Given the description of an element on the screen output the (x, y) to click on. 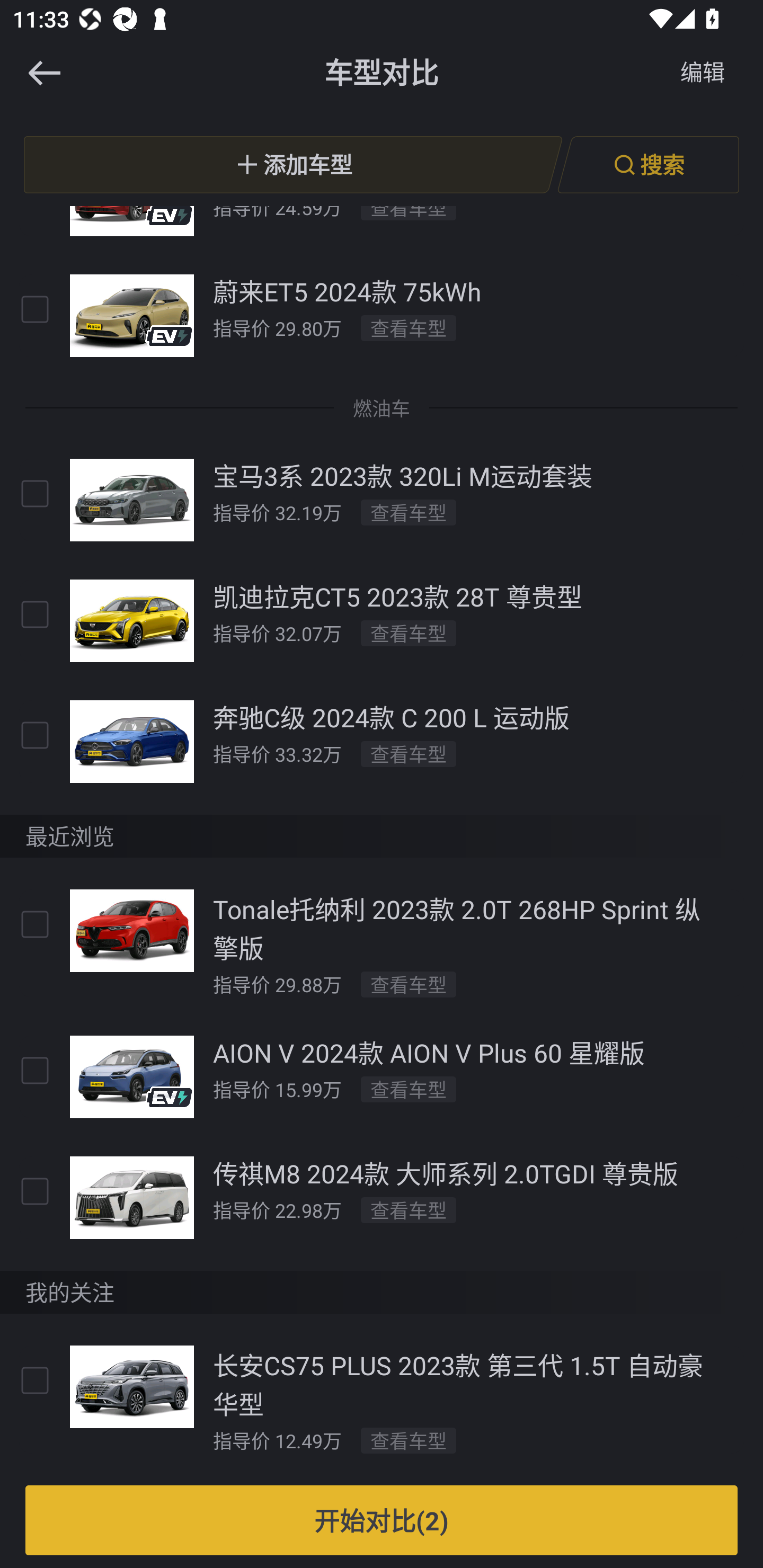
编辑 (702, 72)
 添加车型 (293, 164)
 搜索 (647, 164)
蔚来ET5 2024款 75kWh 指导价 29.80万 查看车型 (381, 315)
查看车型 (408, 328)
宝马3系 2023款 320Li M运动套装 指导价 32.19万 查看车型 (381, 499)
查看车型 (408, 512)
凯迪拉克CT5 2023款 28T 尊贵型 指导价 32.07万 查看车型 (381, 619)
查看车型 (408, 633)
奔驰C级 2024款 C 200 L 运动版 指导价 33.32万 查看车型 (381, 740)
查看车型 (408, 753)
查看车型 (408, 984)
AION V 2024款 AION V Plus 60 星耀版 指导价 15.99万 查看车型 (381, 1076)
查看车型 (408, 1088)
传祺M8 2024款 大师系列 2.0TGDI 尊贵版 指导价 22.98万 查看车型 (381, 1196)
查看车型 (408, 1210)
长安CS75 PLUS 2023款 第三代 1.5T 自动豪华型 指导价 12.49万 查看车型 (381, 1399)
查看车型 (408, 1439)
开始对比(2) (381, 1519)
